Given the description of an element on the screen output the (x, y) to click on. 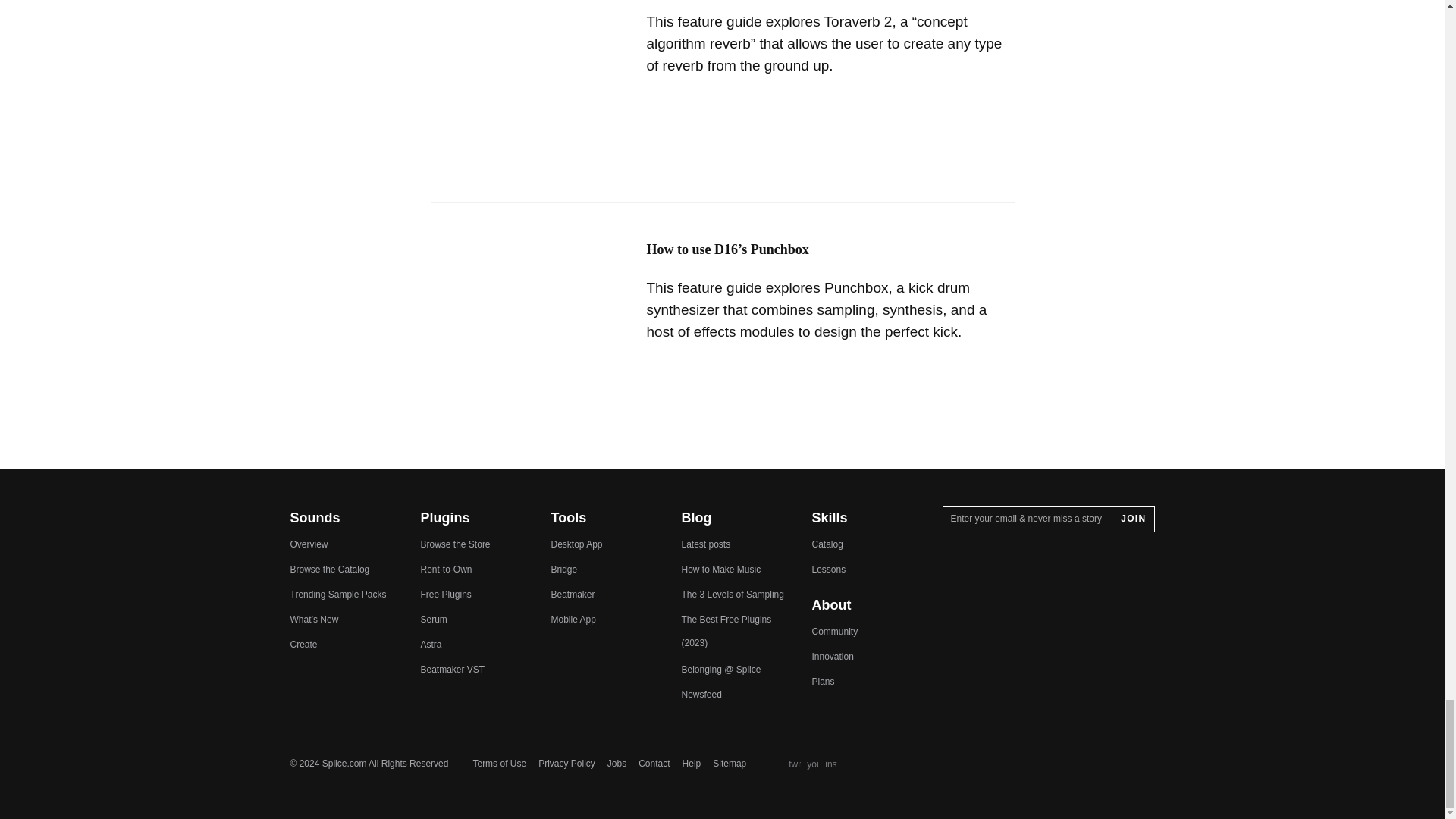
Join (1133, 518)
